Given the description of an element on the screen output the (x, y) to click on. 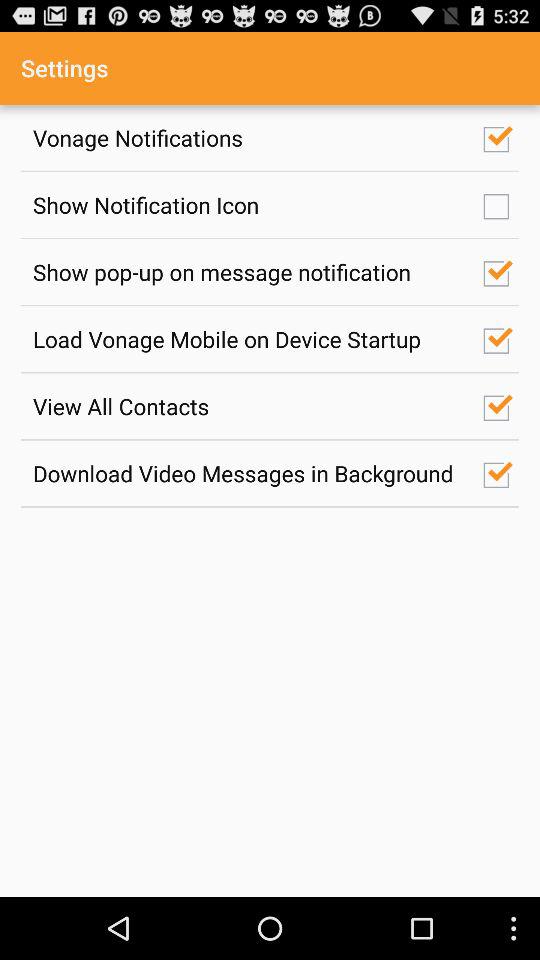
scroll until vonage notifications (247, 137)
